Given the description of an element on the screen output the (x, y) to click on. 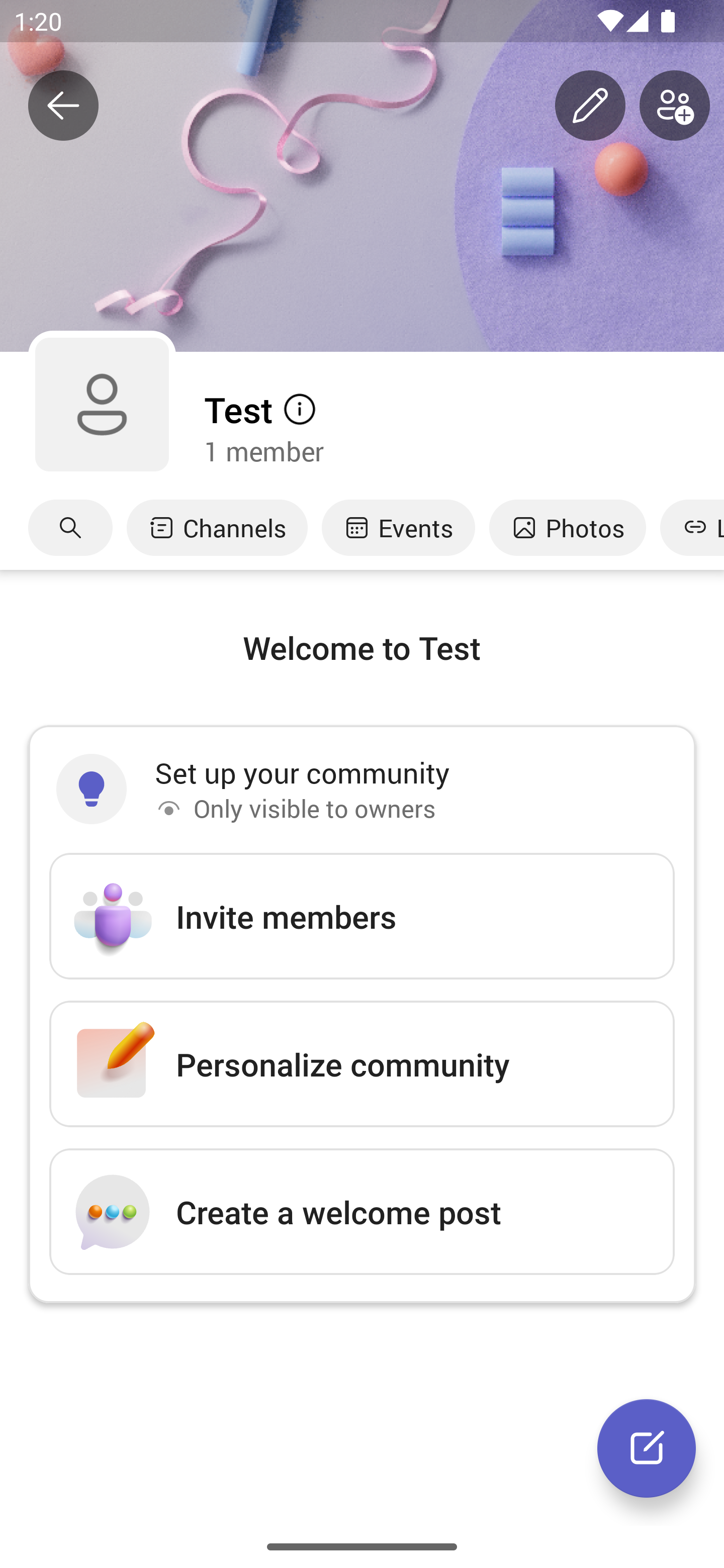
Back (63, 105)
Edit banner image (590, 105)
Add members (674, 105)
Test 1 member (462, 427)
Search tab, 1 of 6 (70, 527)
Channels tab, 2 of 6 Channels (216, 527)
Events tab, 3 of 6 Events (397, 527)
Photos tab, 4 of 6 Photos (567, 527)
Invite members (361, 916)
Personalize community (361, 1063)
Create a welcome post (361, 1210)
New conversation (646, 1447)
